Given the description of an element on the screen output the (x, y) to click on. 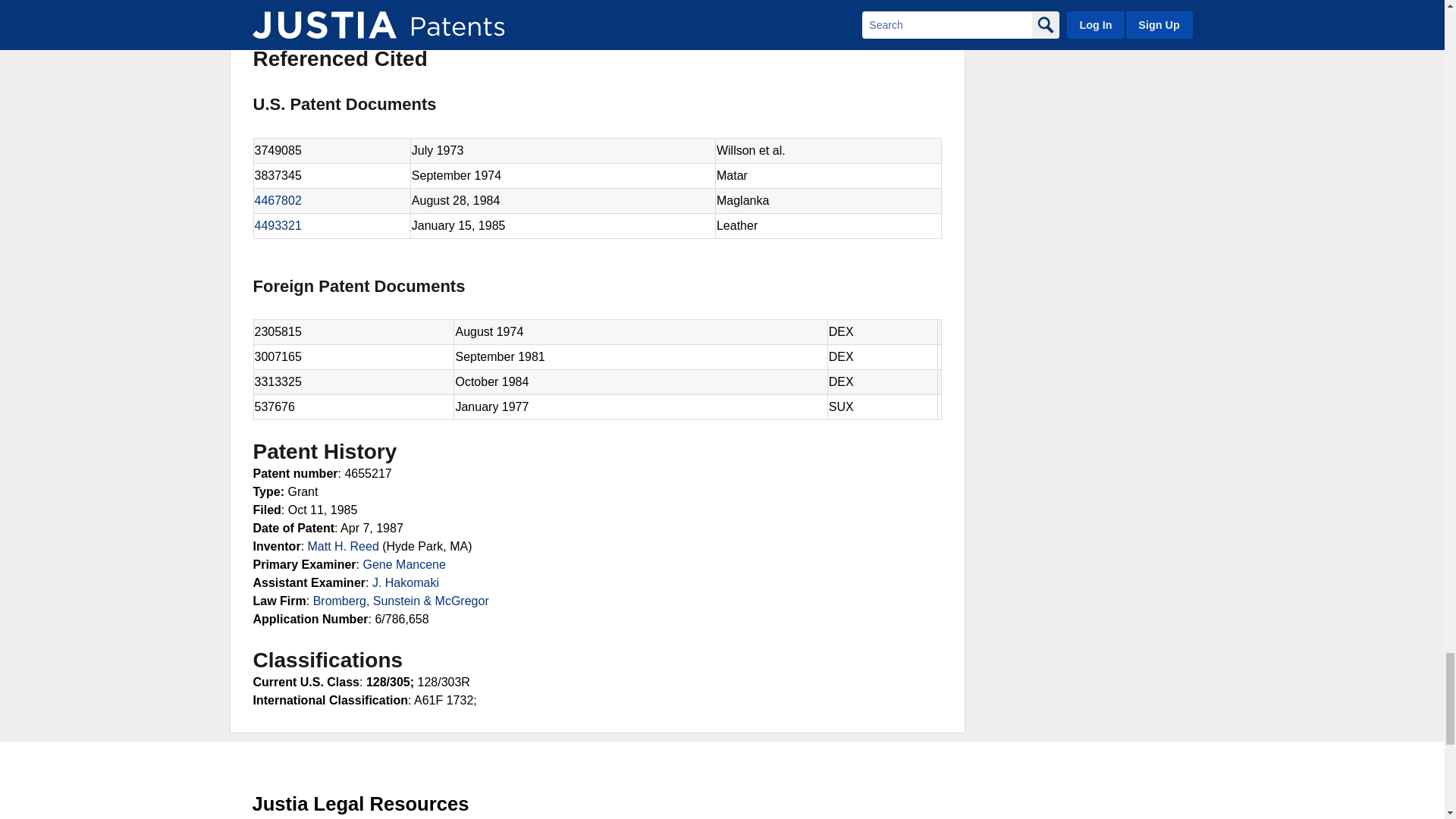
J. Hakomaki (405, 582)
4467802 (277, 200)
Matt H. Reed (342, 545)
Gene Mancene (403, 563)
4493321 (277, 225)
